Given the description of an element on the screen output the (x, y) to click on. 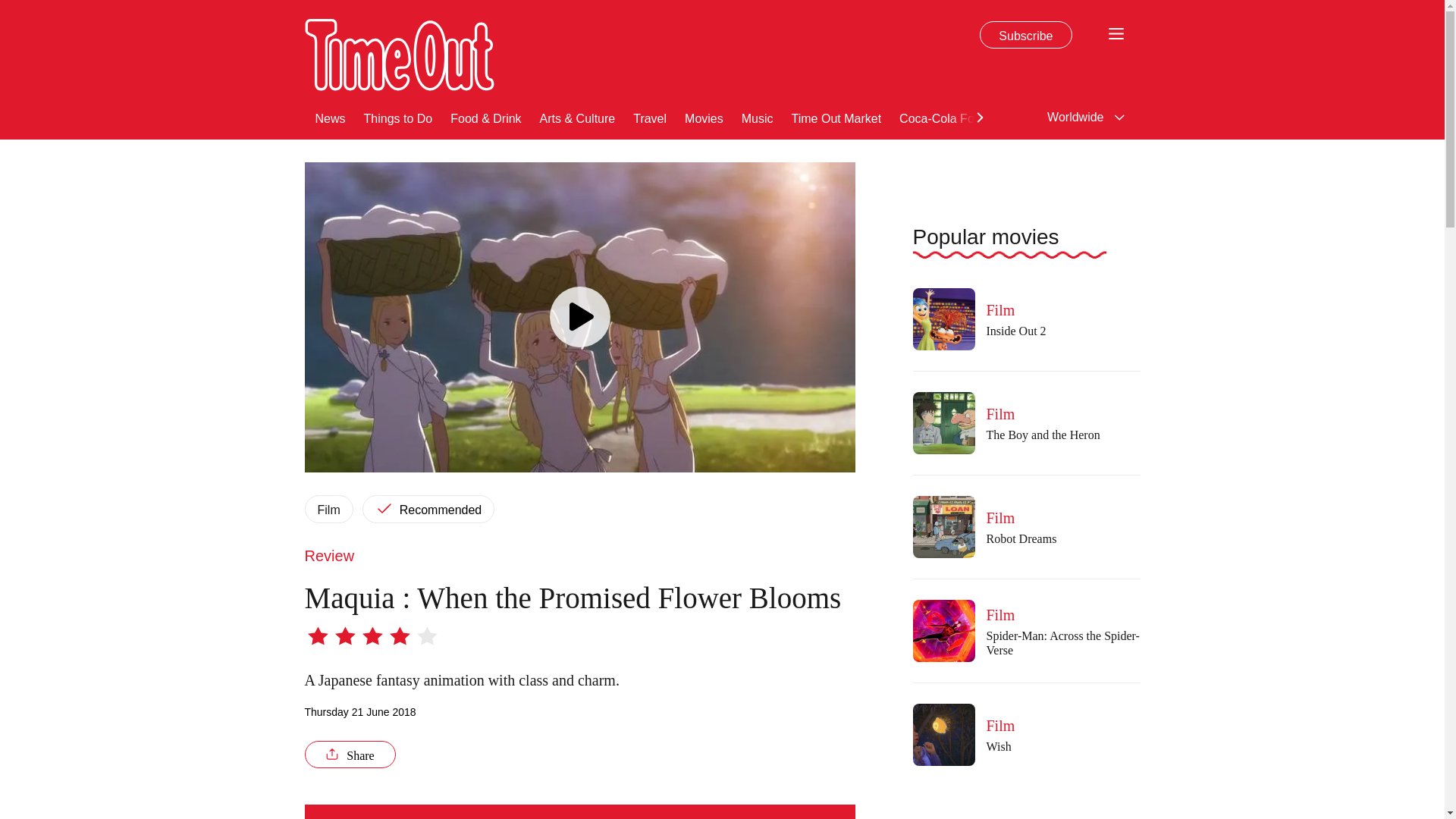
Movies (703, 116)
Robot Dreams (943, 526)
Time Out Market (836, 116)
Things to Do (397, 116)
The Boy and the Heron (943, 423)
News (330, 116)
Coca-Cola Foodmarks (960, 116)
Wish (943, 734)
Music (756, 116)
Subscribe (1025, 34)
Inside Out 2 (943, 319)
Spider-Man: Across the Spider-Verse (943, 630)
Travel (649, 116)
Go to the content (10, 7)
